Given the description of an element on the screen output the (x, y) to click on. 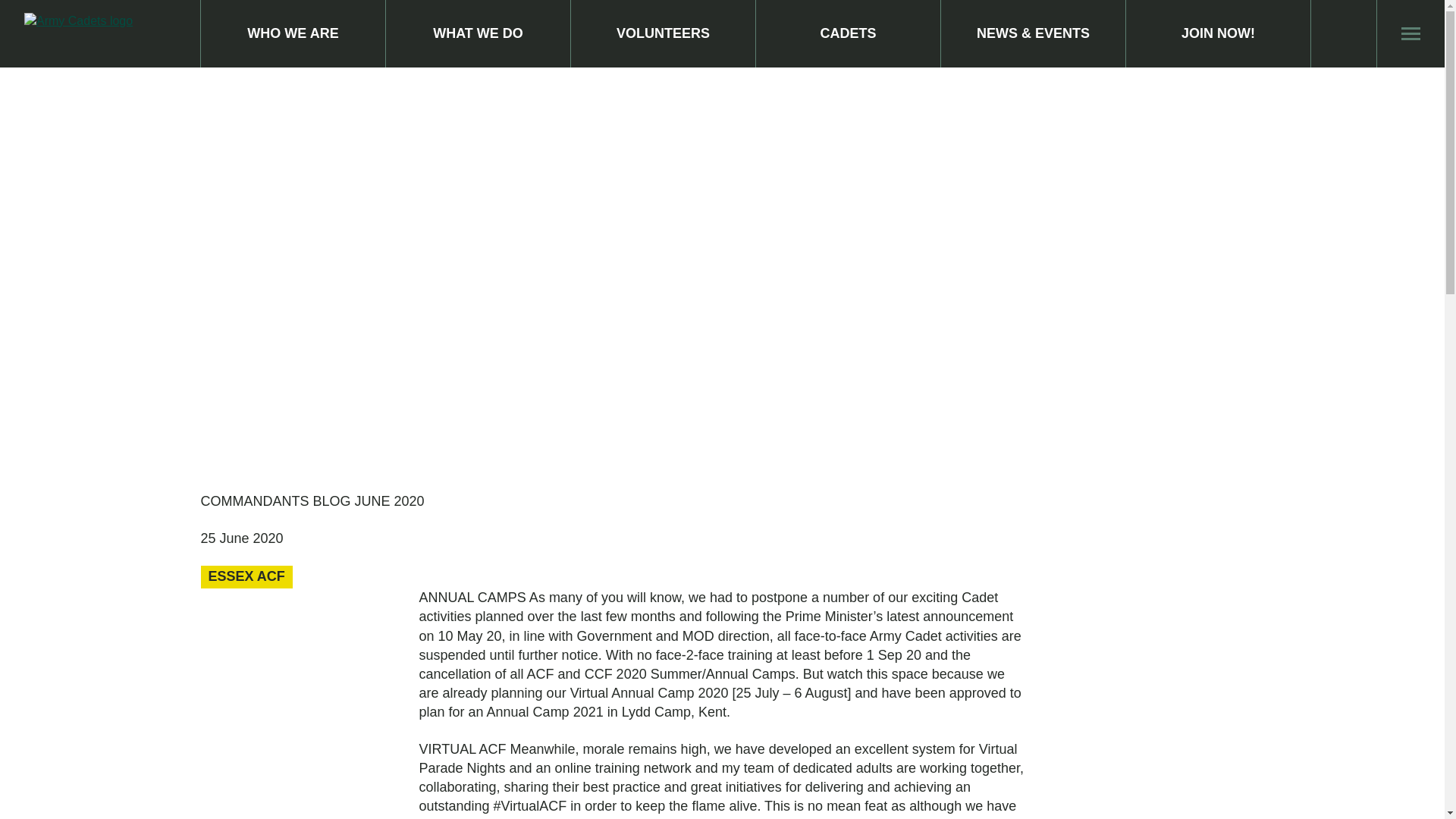
WHAT WE DO (477, 33)
WHO WE ARE (292, 33)
CADETS (847, 33)
VOLUNTEERS (662, 33)
Army Cadets Home (100, 34)
